Given the description of an element on the screen output the (x, y) to click on. 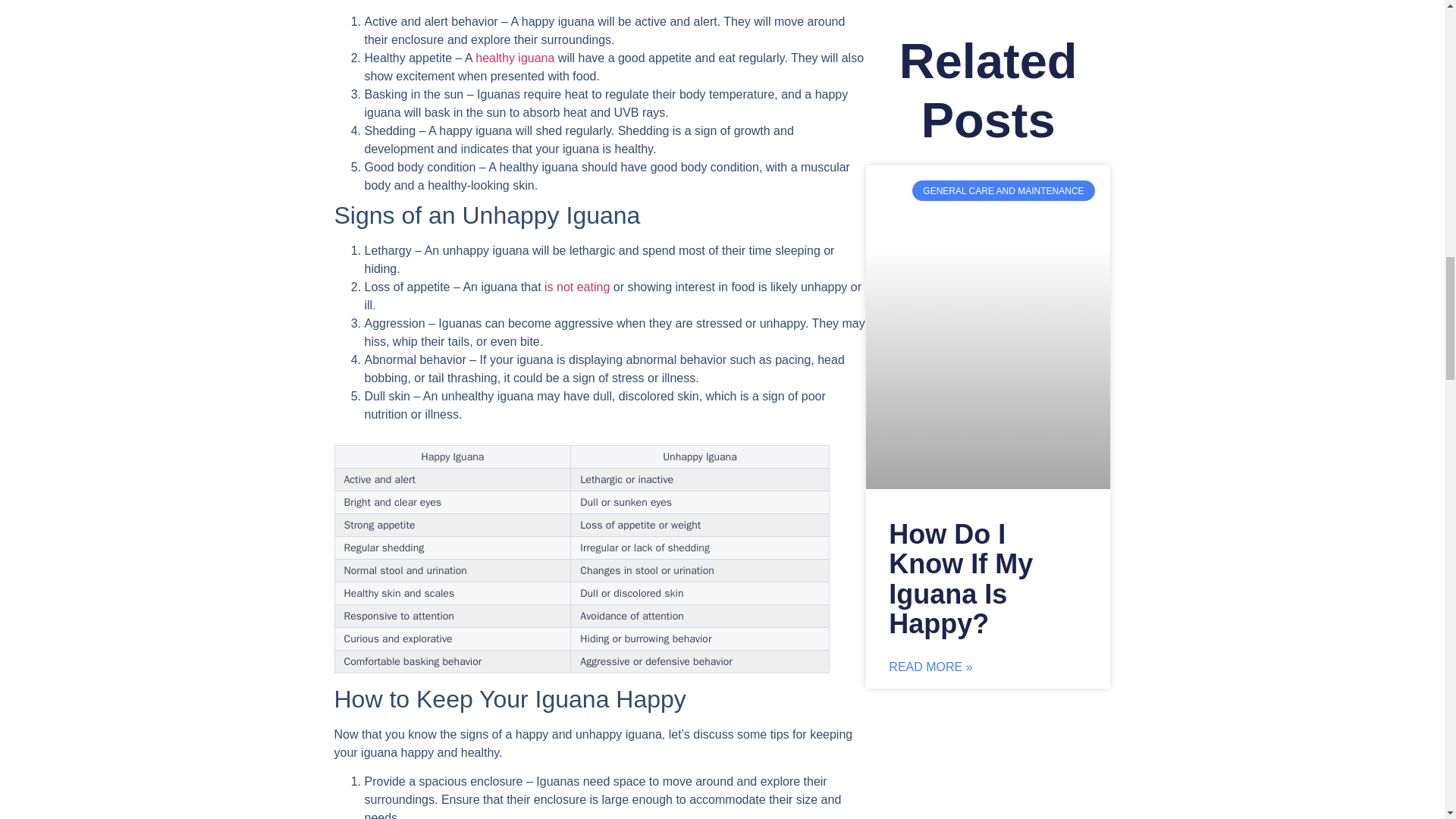
is not eating (577, 286)
How Do I Know If My Iguana Is Happy? (960, 578)
healthy iguana (515, 57)
